Given the description of an element on the screen output the (x, y) to click on. 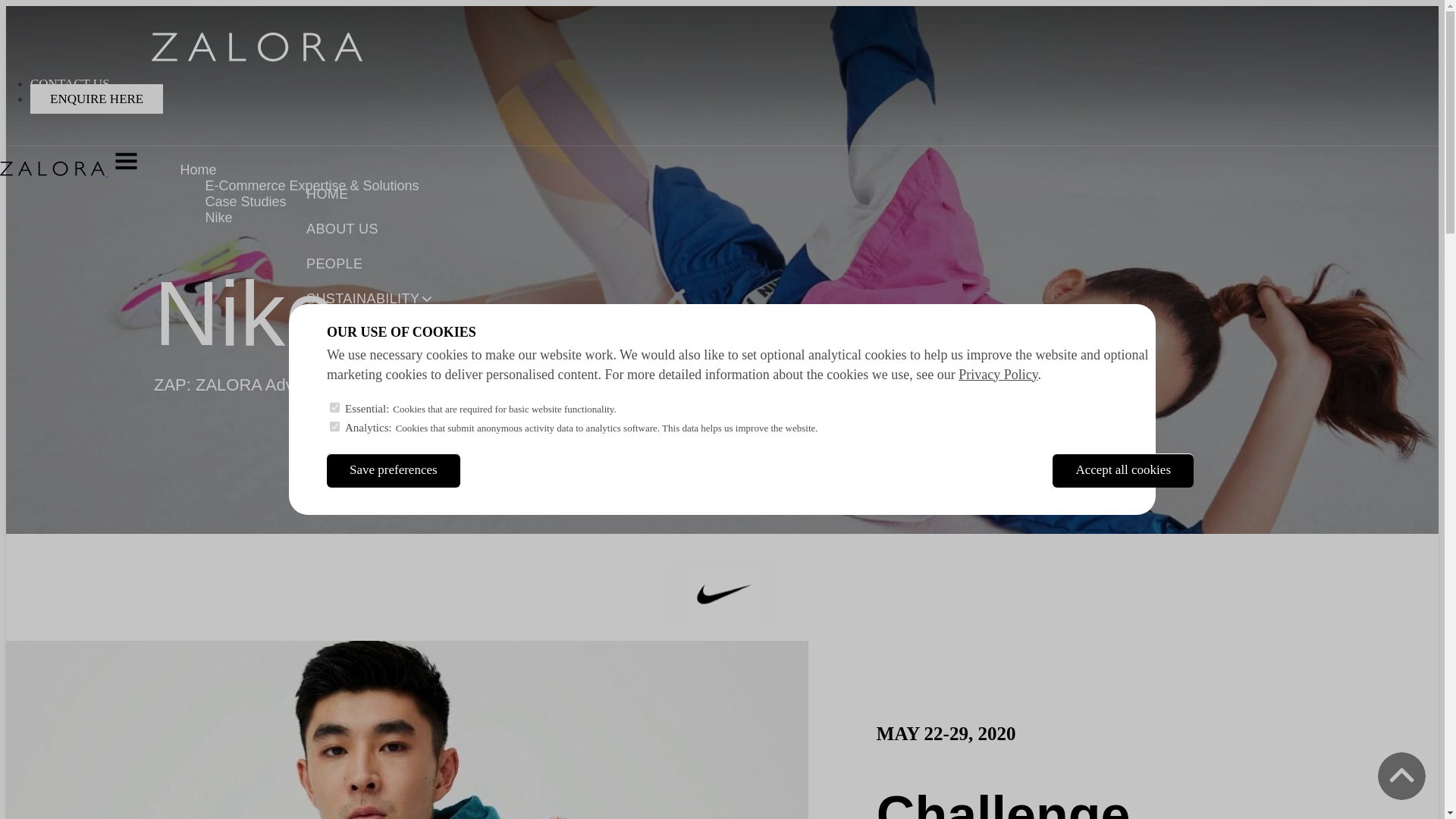
CONTACT US (70, 83)
ABOUT US (341, 230)
analytics (334, 426)
PEOPLE (334, 265)
Home (256, 56)
HOME (327, 196)
ENQUIRE HERE (96, 98)
SELL ON ZALORA (365, 370)
SUSTAINABILITY (362, 300)
Skip to main content (722, 7)
essential (334, 407)
E-COMMERCE SOLUTIONS (397, 335)
